Given the description of an element on the screen output the (x, y) to click on. 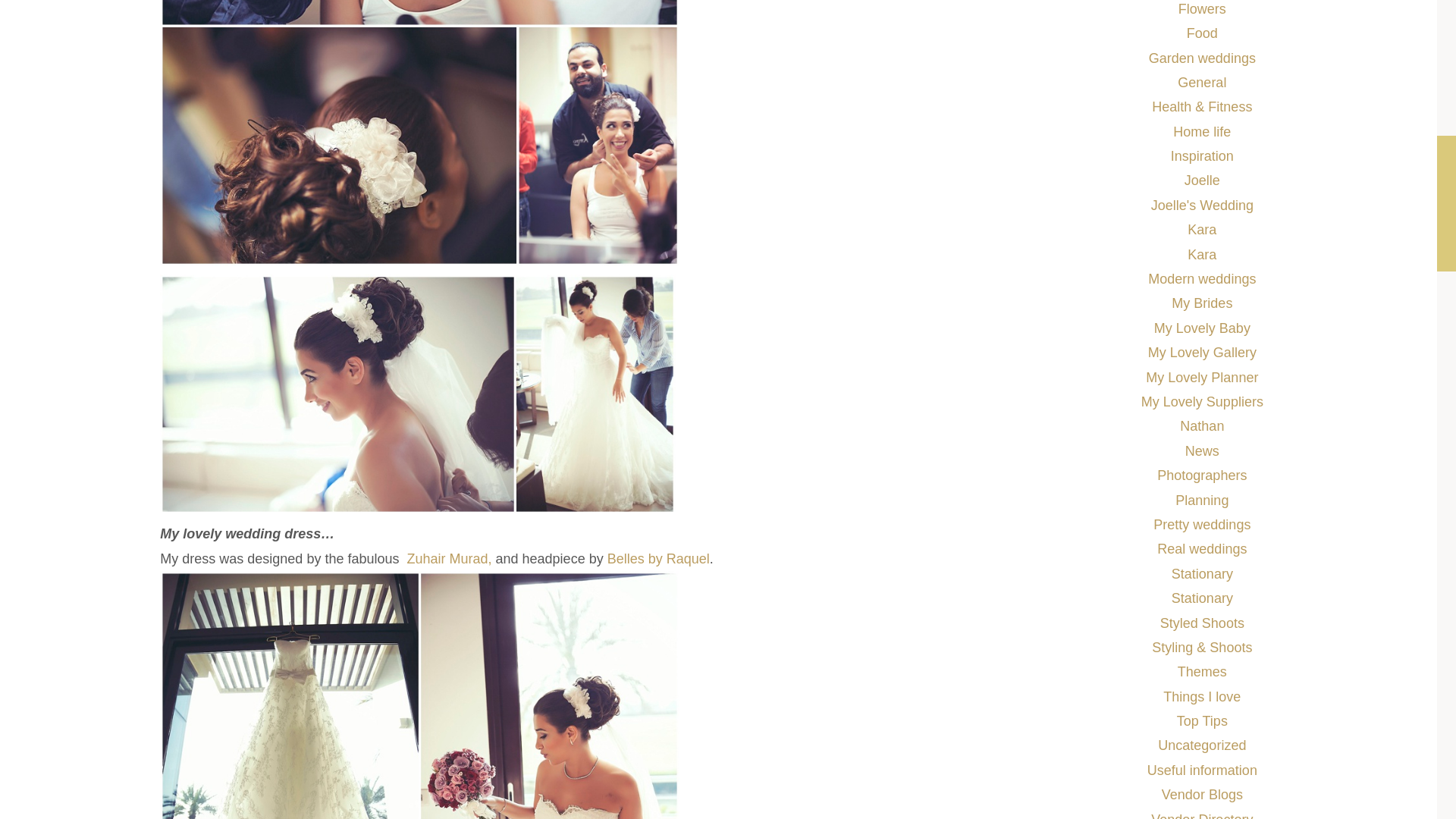
Zuhair Murad, (449, 558)
Belles by Raquel (658, 558)
